Given the description of an element on the screen output the (x, y) to click on. 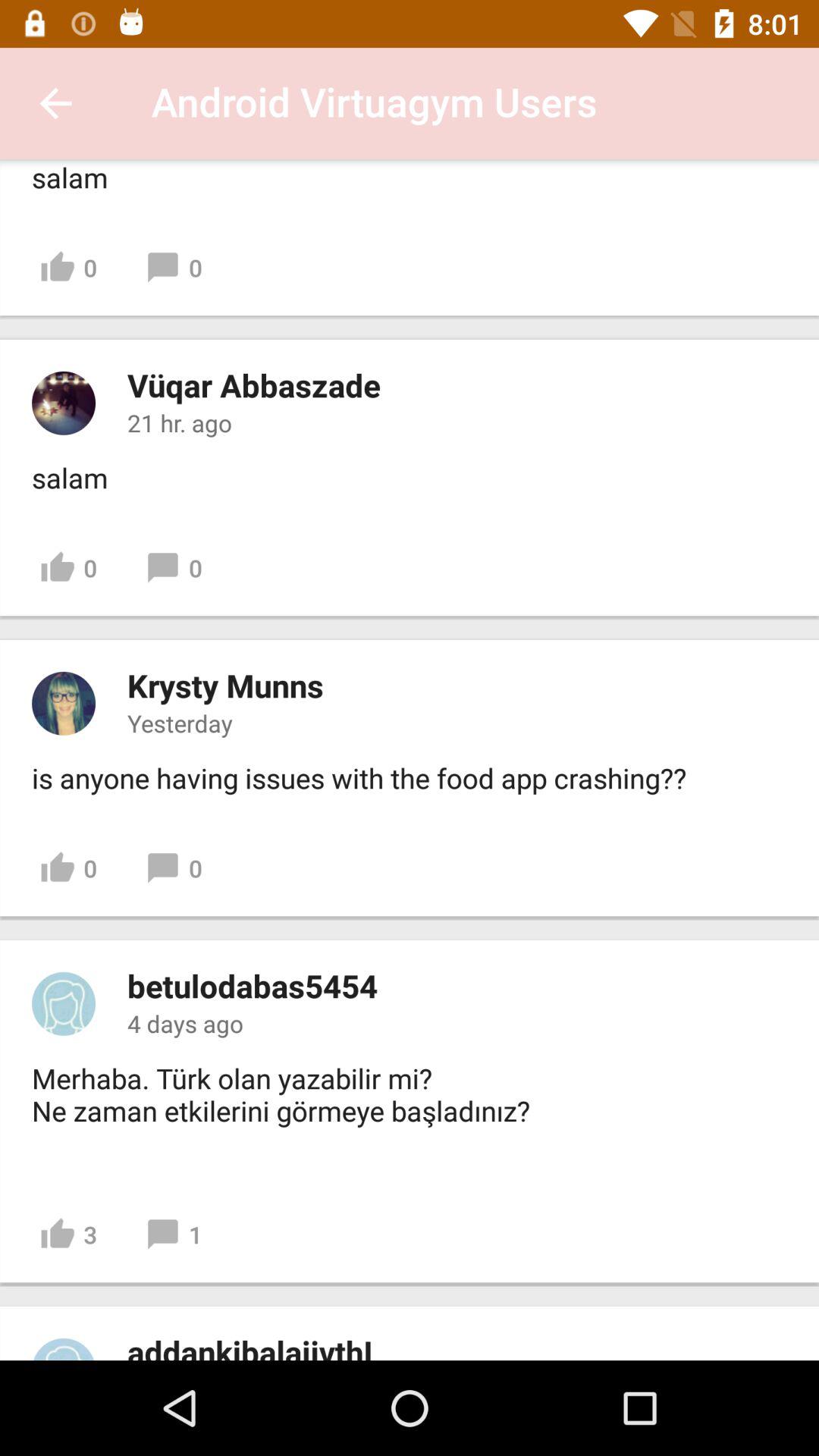
profile photo (63, 1003)
